Given the description of an element on the screen output the (x, y) to click on. 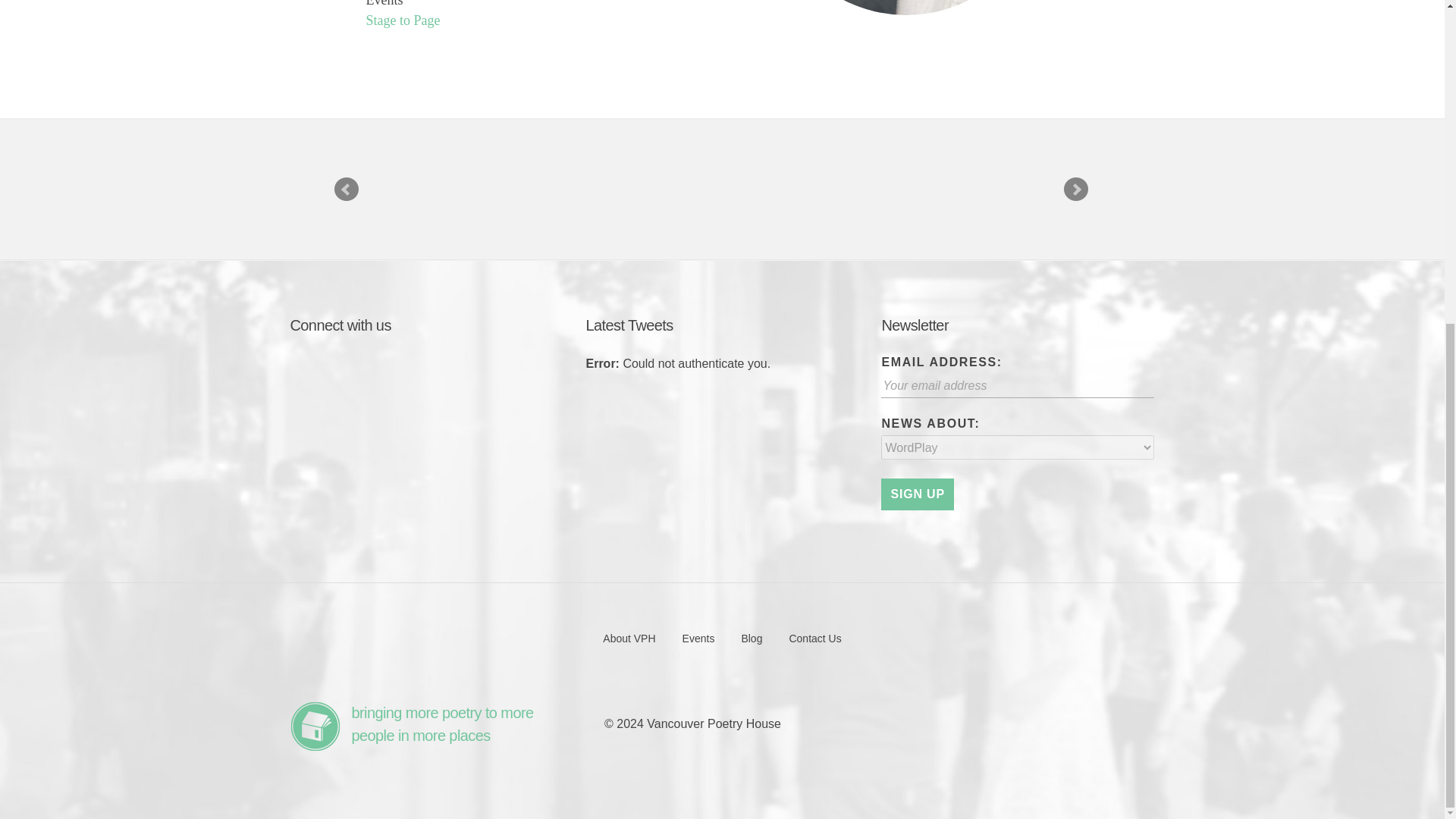
Sign up (916, 494)
